Given the description of an element on the screen output the (x, y) to click on. 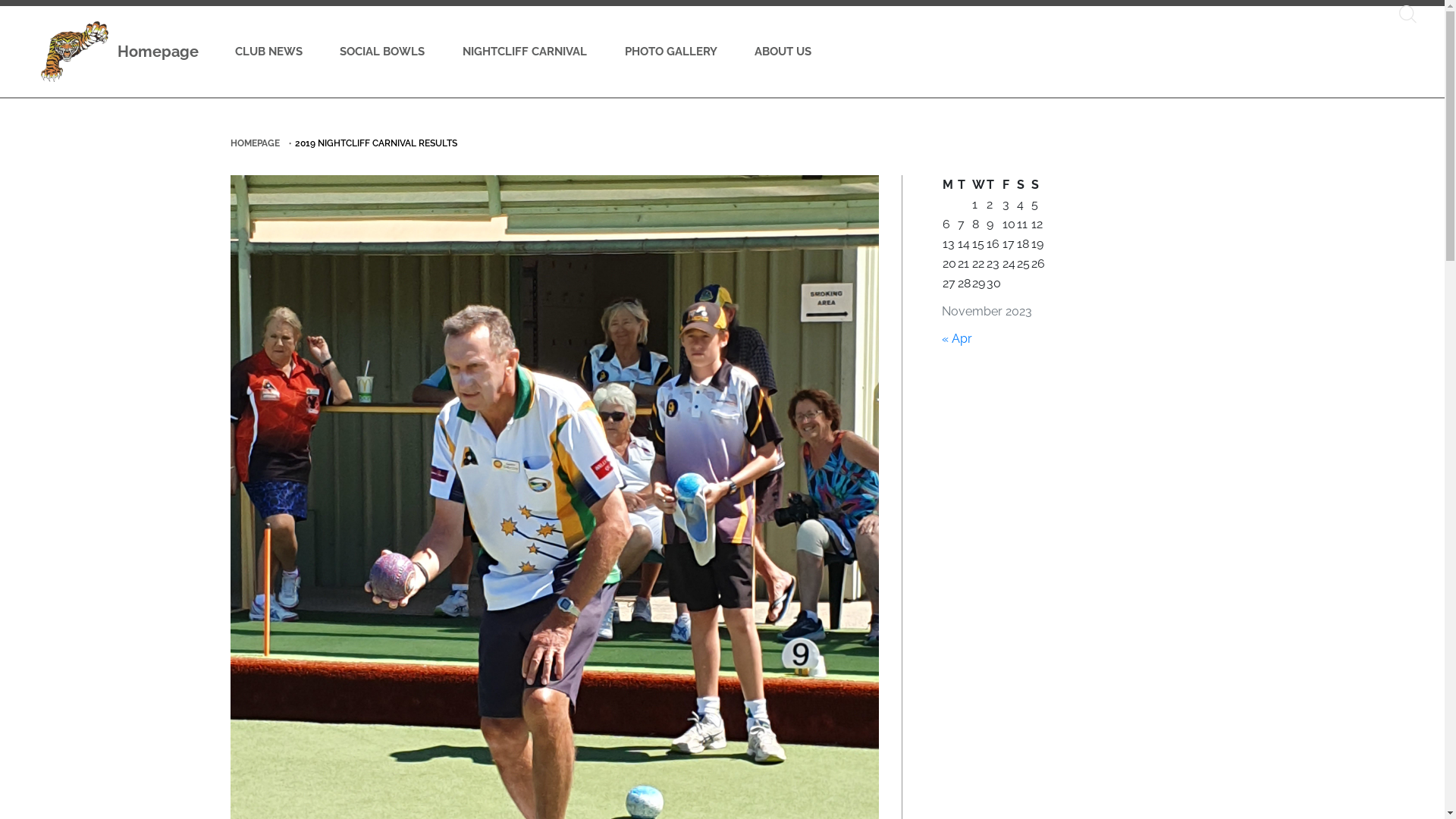
PHOTO GALLERY Element type: text (671, 51)
ABOUT US Element type: text (782, 51)
HOMEPAGE Element type: text (254, 143)
CLUB NEWS Element type: text (268, 51)
SOCIAL BOWLS Element type: text (382, 51)
Homepage Element type: text (119, 51)
NIGHTCLIFF CARNIVAL Element type: text (524, 51)
